Given the description of an element on the screen output the (x, y) to click on. 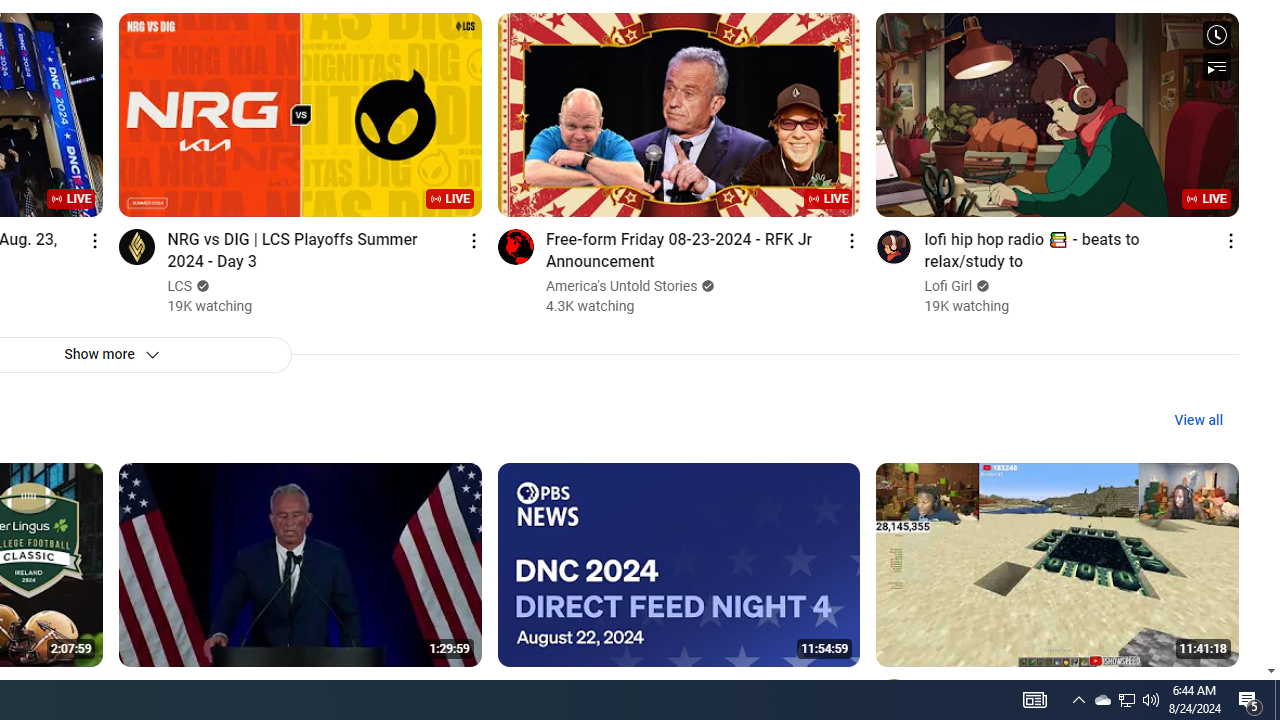
America's Untold Stories (621, 285)
Action menu (1229, 690)
View all (1198, 420)
LCS (180, 285)
Verified (980, 286)
Go to channel (893, 696)
Lofi Girl (949, 285)
